Given the description of an element on the screen output the (x, y) to click on. 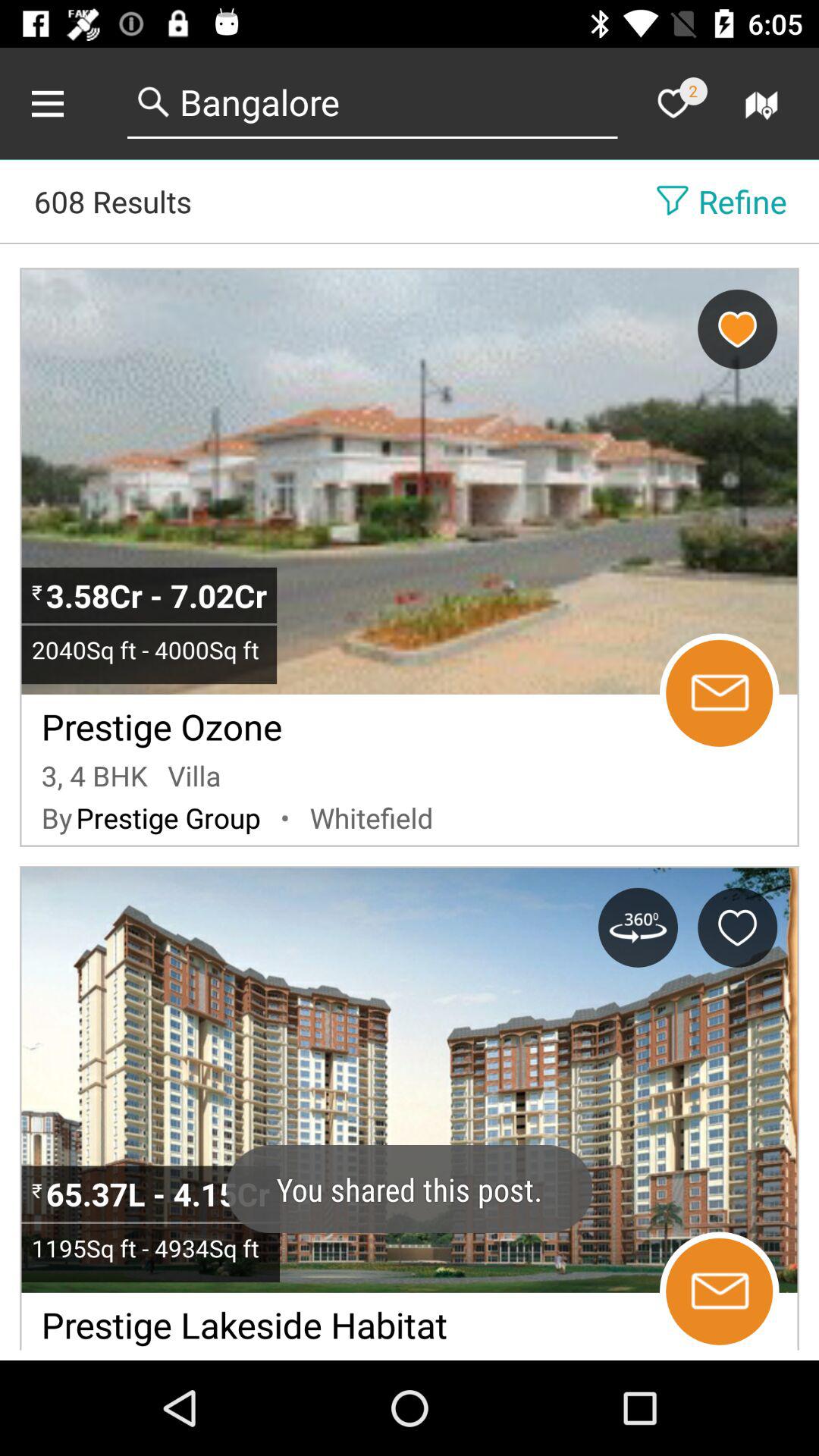
turn off item next to 3, 4 bhk item (194, 775)
